Given the description of an element on the screen output the (x, y) to click on. 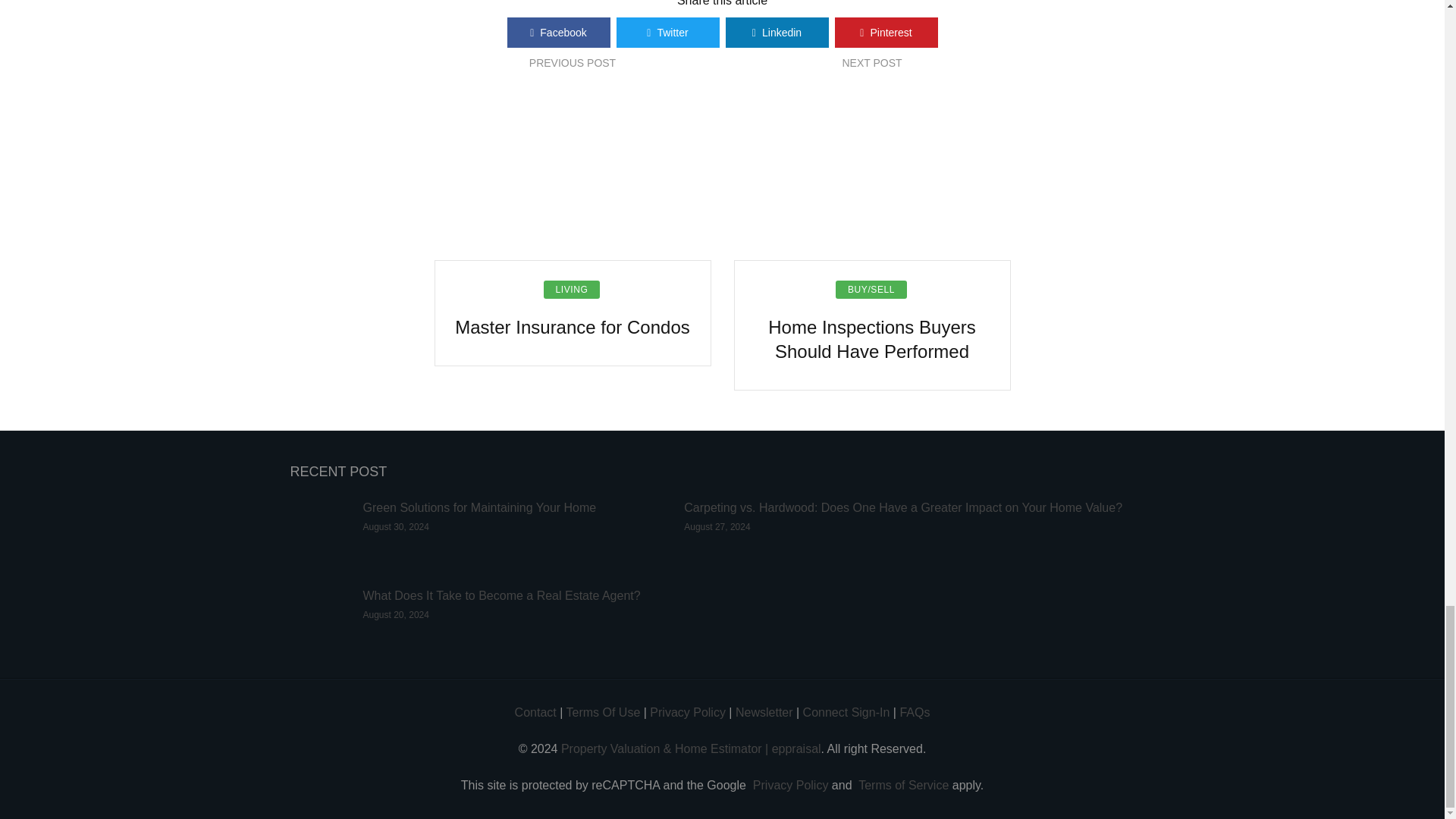
Master Insurance for Condos (571, 327)
August 20, 2024 (395, 614)
PREVIOUS POST (572, 62)
Pinterest (885, 32)
NEXT POST (871, 62)
Share on Pinterest (885, 32)
August 30, 2024 (395, 526)
Share on Twitter (667, 32)
Share on Facebook (558, 32)
Facebook (558, 32)
